Given the description of an element on the screen output the (x, y) to click on. 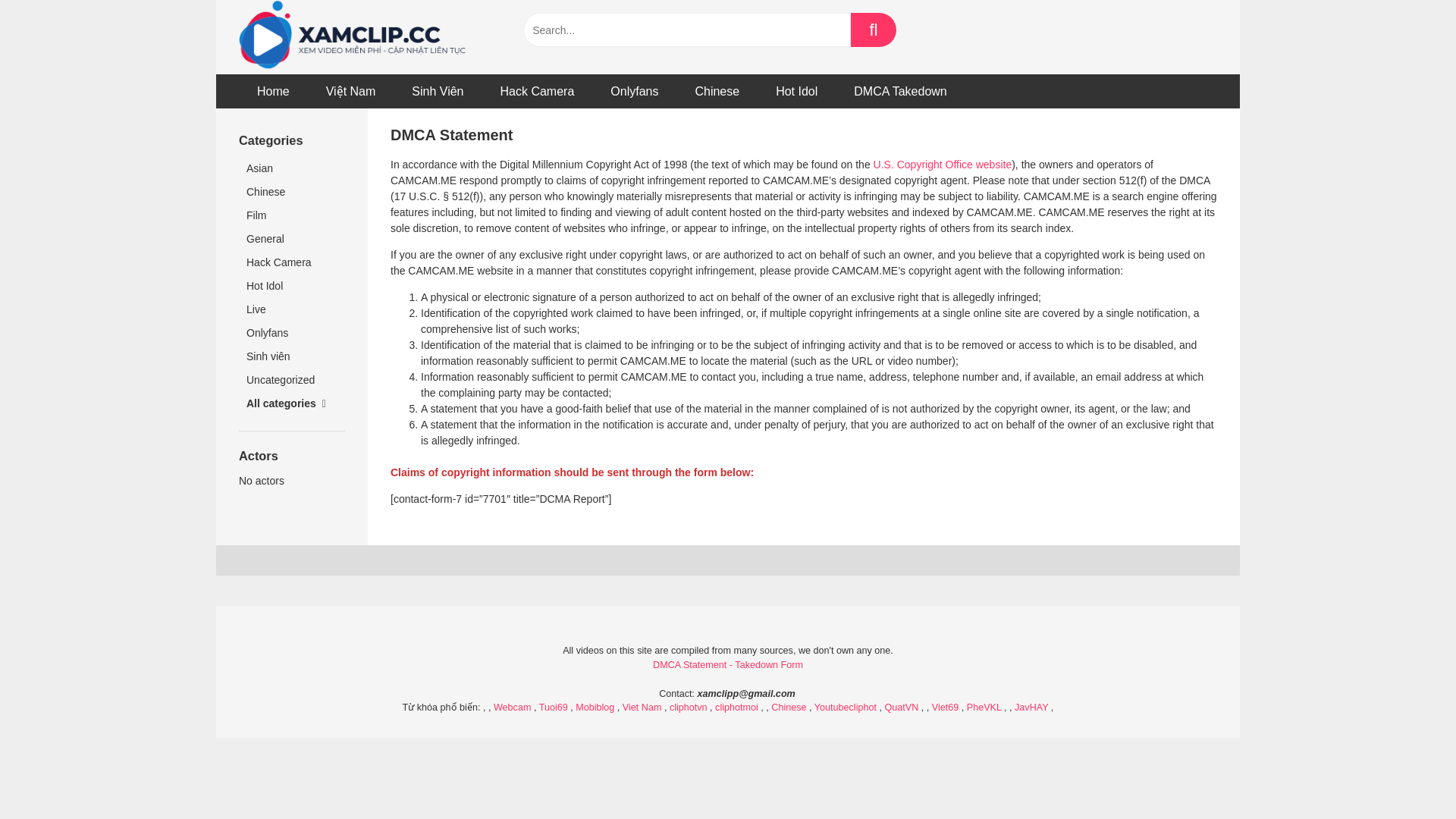
Film (291, 215)
DMCA Takedown (899, 91)
Uncategorized (291, 380)
Live (291, 309)
Chinese (717, 91)
QuatVN (900, 706)
cliphotvn (688, 706)
General (291, 238)
Viet69 (944, 706)
cliphotmoi (736, 706)
